Given the description of an element on the screen output the (x, y) to click on. 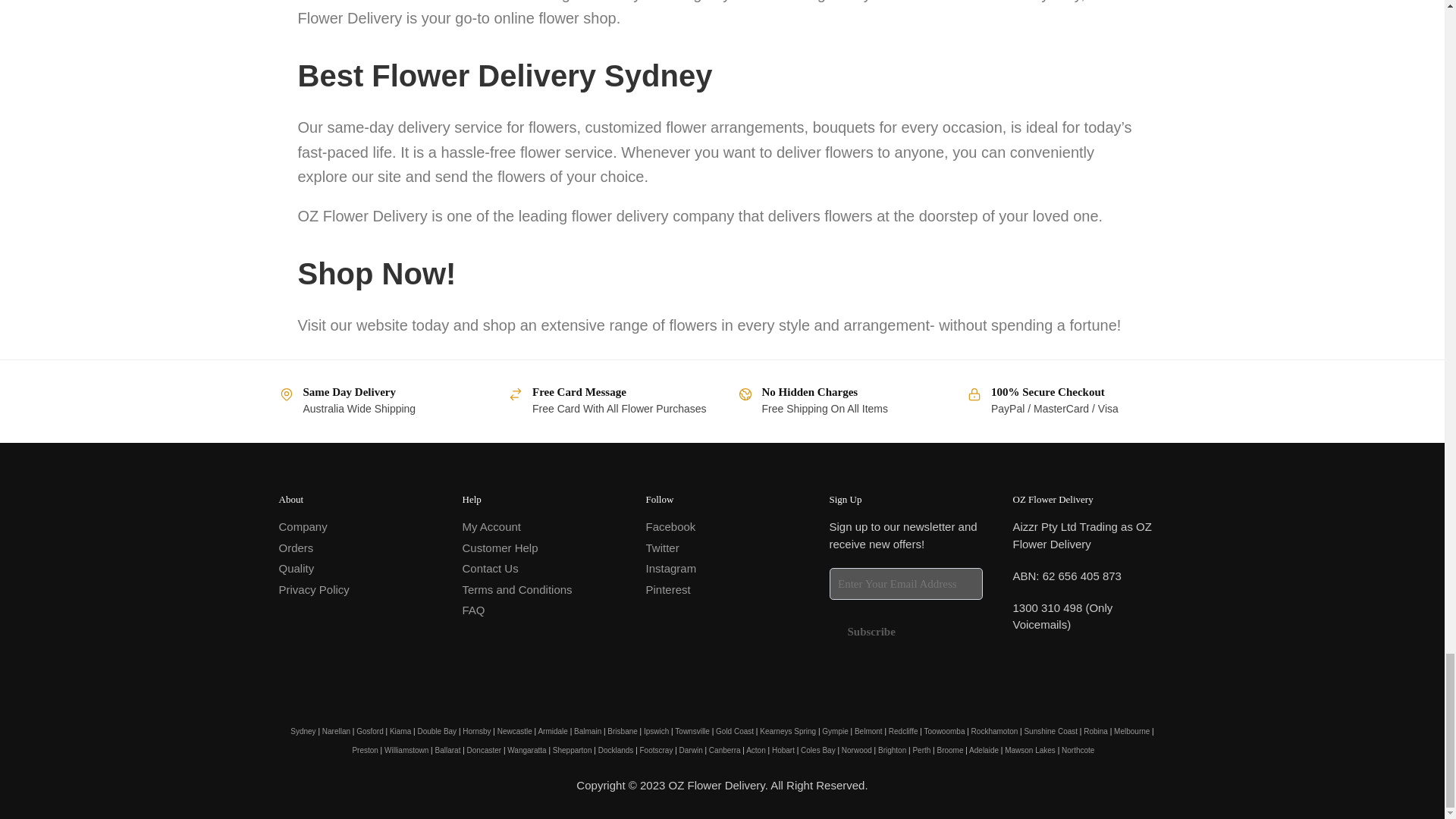
Subscribe (871, 632)
